Given the description of an element on the screen output the (x, y) to click on. 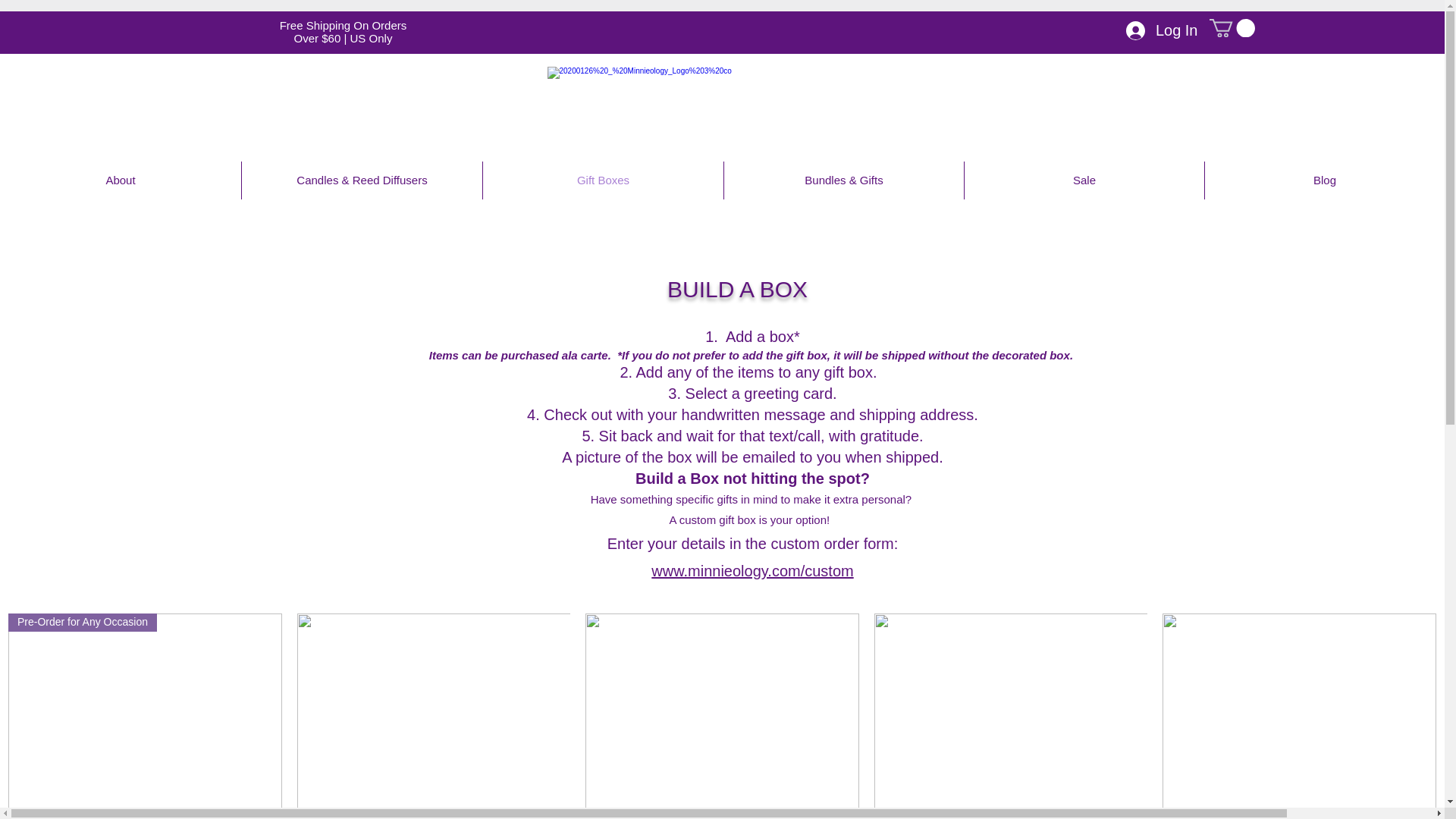
Gift Boxes (603, 180)
About (120, 180)
Log In (1161, 30)
Pre-Order for Any Occasion (145, 716)
Free Shipping On Orders (343, 24)
Blog (1324, 180)
Sale (1083, 180)
